Given the description of an element on the screen output the (x, y) to click on. 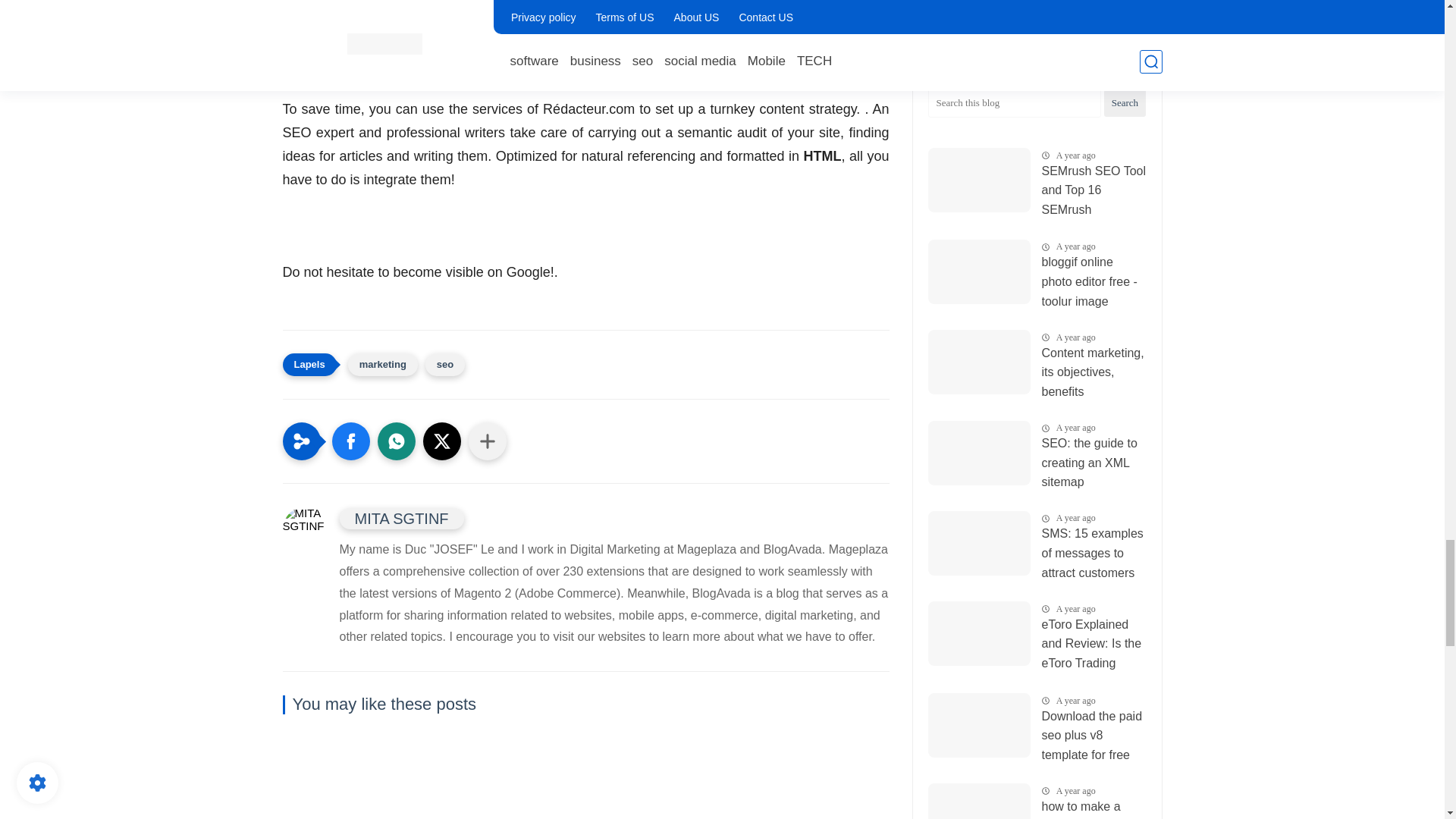
marketing (382, 363)
MITA SGTINF (401, 518)
seo (444, 363)
marketing (382, 363)
seo (444, 363)
